Given the description of an element on the screen output the (x, y) to click on. 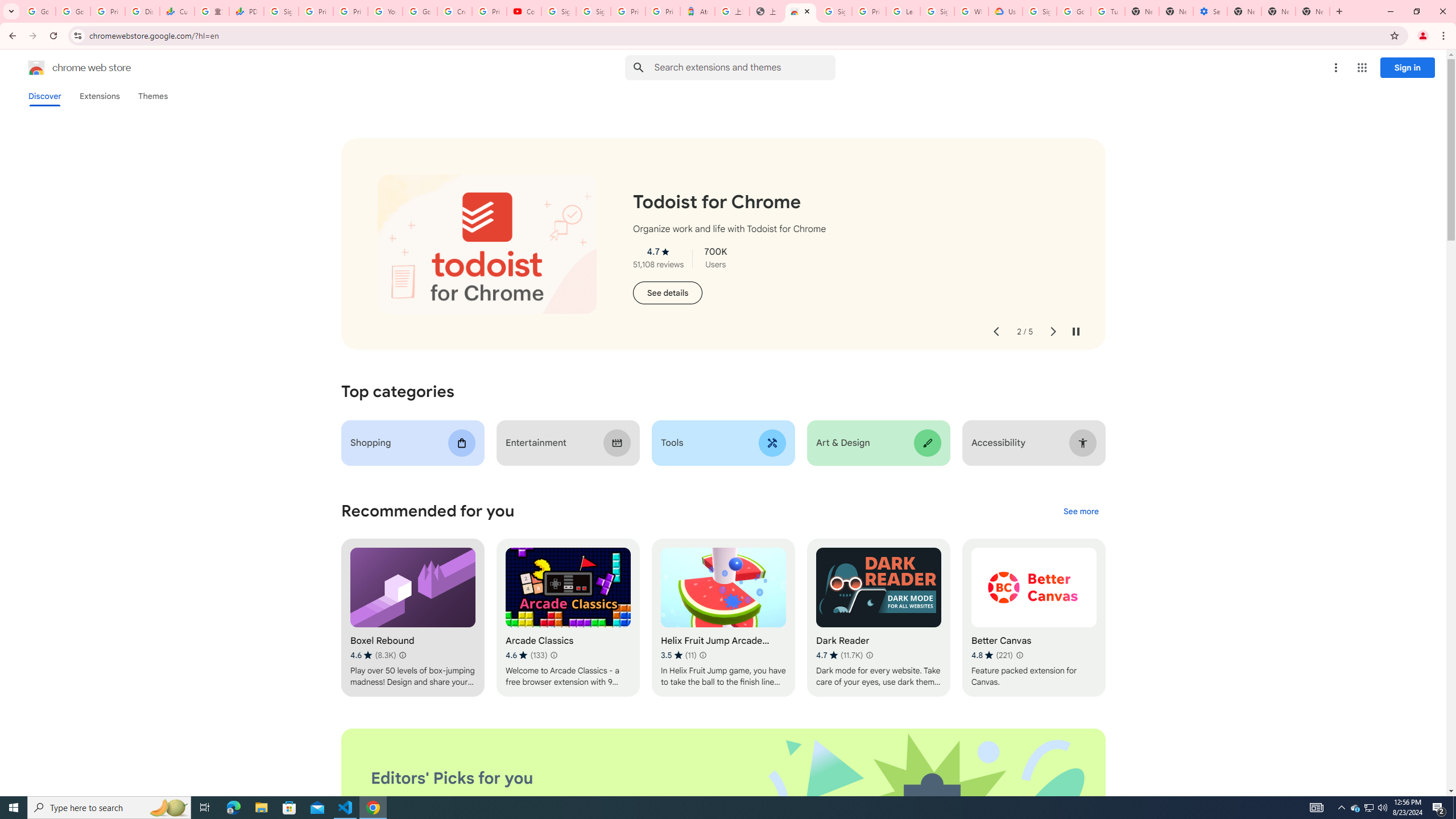
Who are Google's partners? - Privacy and conditions - Google (970, 11)
Accessibility (1033, 443)
Average rating 3.5 out of 5 stars. 11 ratings. (679, 655)
Learn more about results and reviews "Better Canvas" (1019, 655)
Sign in - Google Accounts (592, 11)
Art & Design (878, 443)
Learn more about results and reviews "Arcade Classics" (553, 655)
Chrome Web Store (800, 11)
Currencies - Google Finance (176, 11)
Chrome Web Store logo (36, 67)
